Given the description of an element on the screen output the (x, y) to click on. 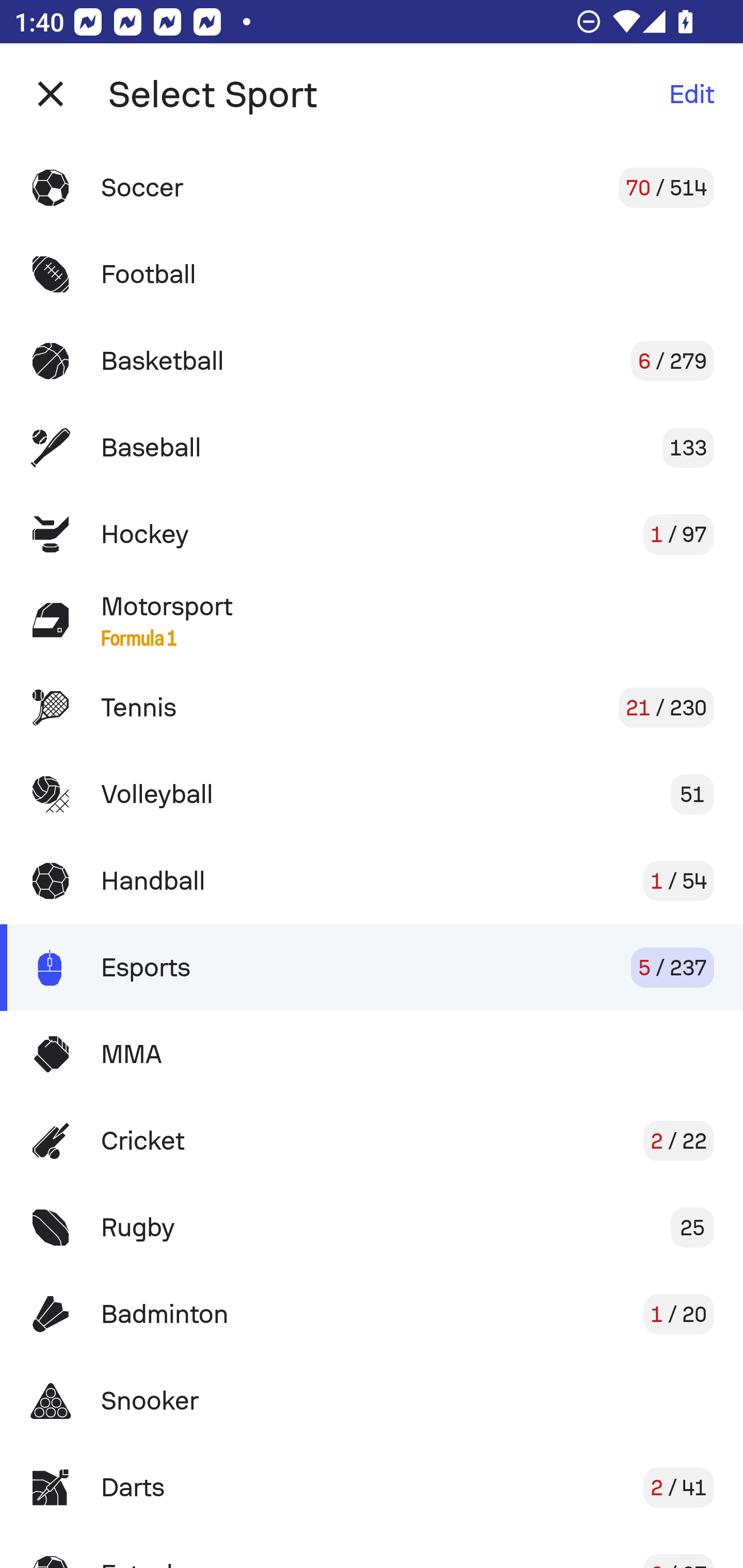
Edit (691, 93)
Soccer 70 / 514 (371, 187)
Football (371, 274)
Basketball 6 / 279 (371, 361)
Baseball 133 (371, 447)
Hockey 1 / 97 (371, 533)
Motorsport Formula 1 (371, 620)
Tennis 21 / 230 (371, 707)
Volleyball 51 (371, 794)
Handball 1 / 54 (371, 880)
Esports 5 / 237 (371, 967)
MMA (371, 1054)
Cricket 2 / 22 (371, 1140)
Rugby 25 (371, 1227)
Badminton 1 / 20 (371, 1314)
Snooker (371, 1400)
Darts 2 / 41 (371, 1487)
